Given the description of an element on the screen output the (x, y) to click on. 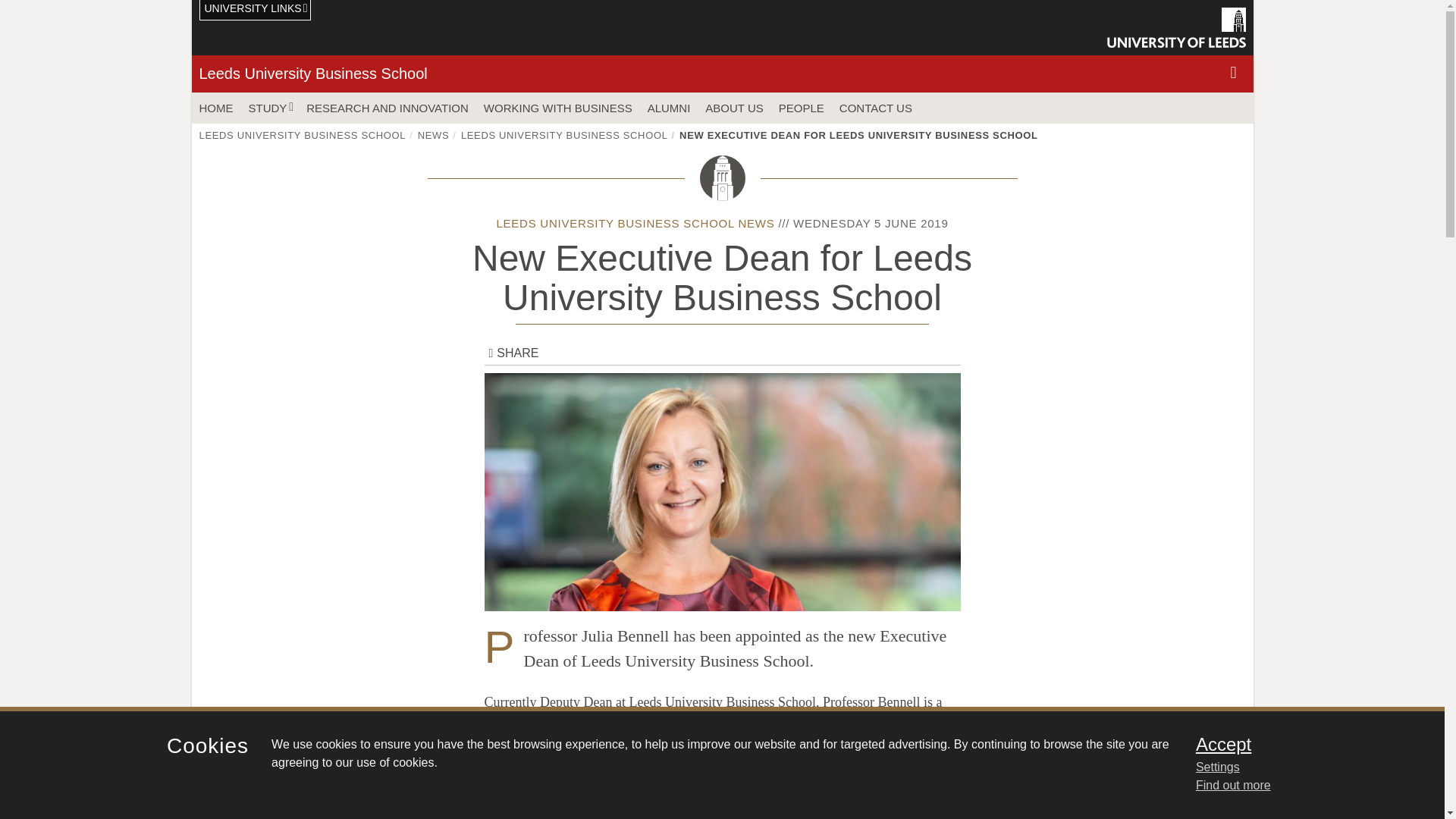
Find out more (1233, 784)
Settings (1300, 767)
Accept (1300, 744)
University of Leeds homepage (1176, 27)
UNIVERSITY LINKS (254, 10)
